Given the description of an element on the screen output the (x, y) to click on. 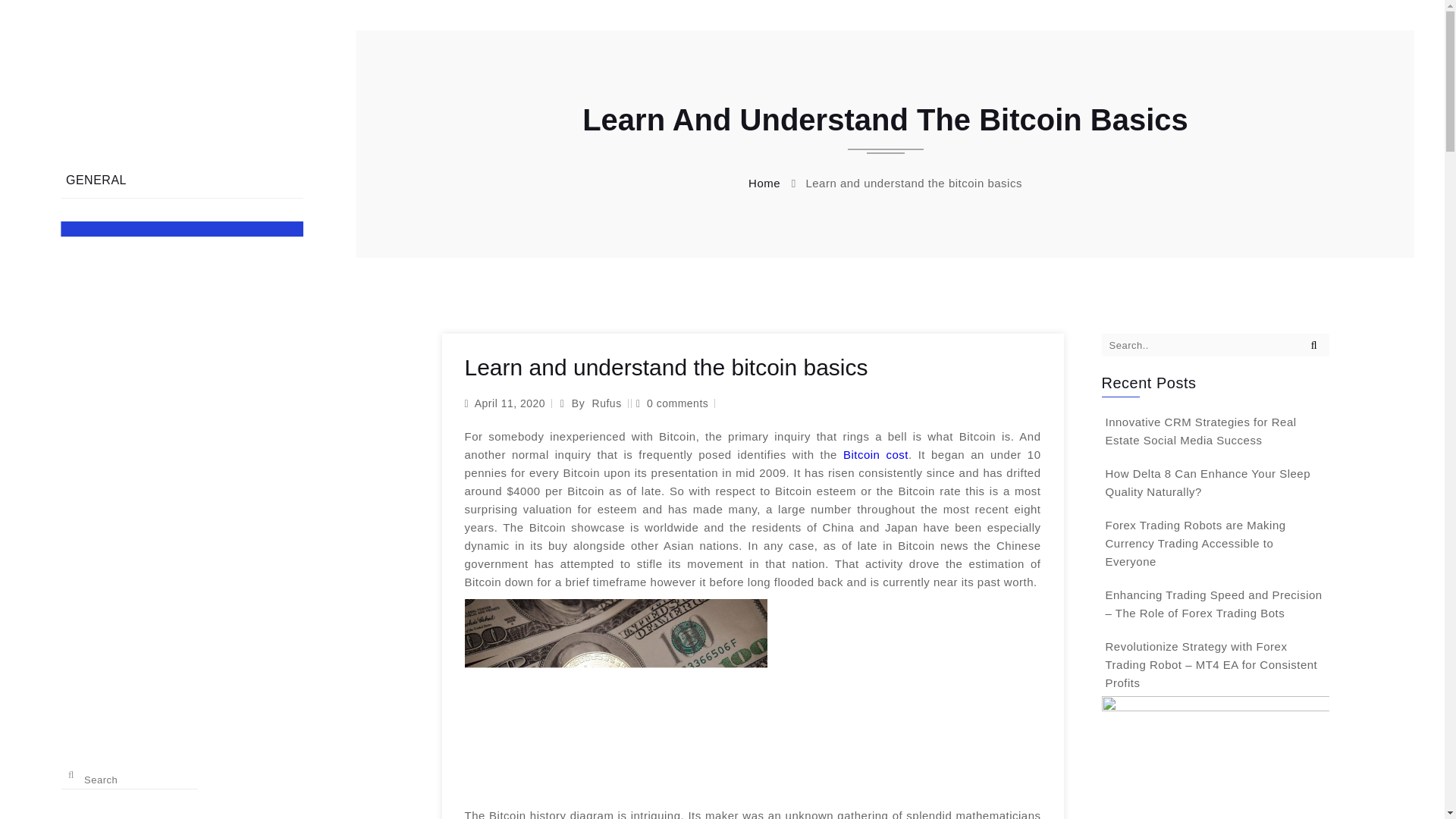
How Delta 8 Can Enhance Your Sleep Quality Naturally? (1208, 481)
Air Borne Adventures Africa (182, 88)
Rufus (606, 403)
Search for: (1213, 344)
Bitcoin cost (875, 454)
Home (764, 182)
GENERAL (181, 180)
GENERAL (181, 180)
